Given the description of an element on the screen output the (x, y) to click on. 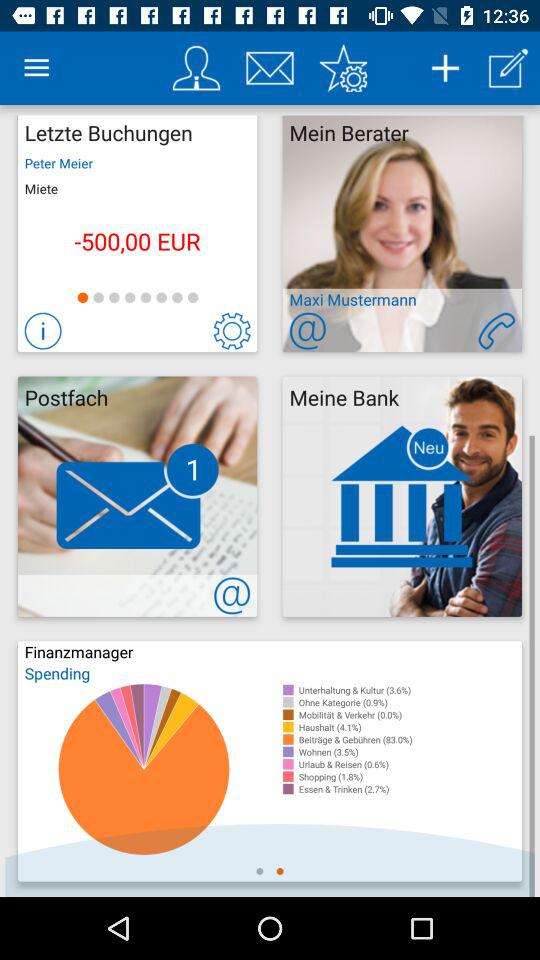
open wohnen (3.5%) icon (409, 751)
